Given the description of an element on the screen output the (x, y) to click on. 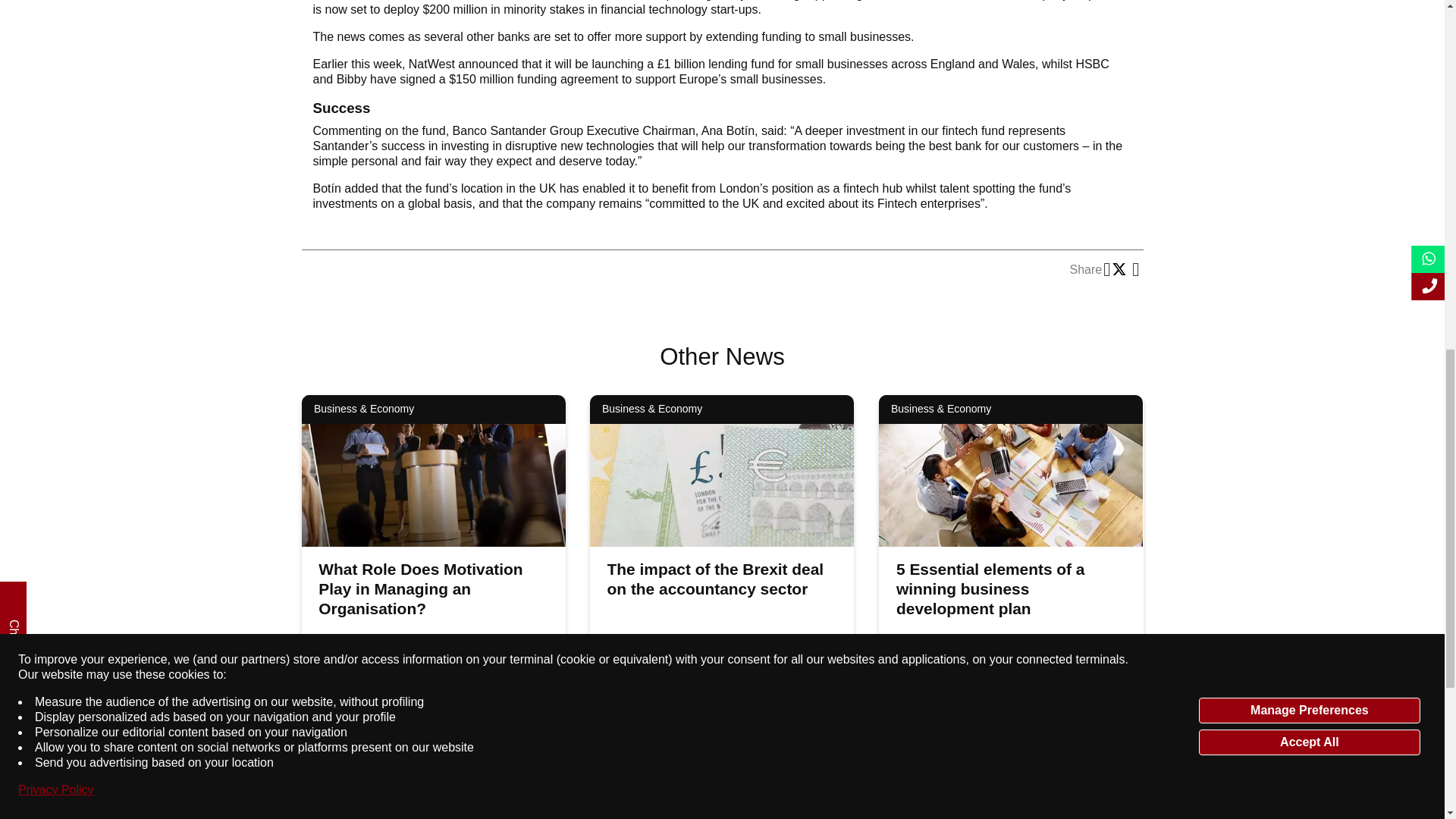
Read more (521, 717)
The impact of the Brexit deal on the accountancy sector (809, 717)
5 Essential elements of a winning business development plan (990, 588)
5 Essential elements of a winning business development plan (1098, 717)
E-Shop (657, 20)
What Role Does Motivation Play in Managing an Organisation? (420, 588)
Enquire Now (764, 20)
What Role Does Motivation Play in Managing an Organisation? (521, 717)
The impact of the Brexit deal on the accountancy sector (715, 578)
The impact of the Brexit deal on the accountancy sector (715, 578)
What Role Does Motivation Play in Managing an Organisation? (420, 588)
